Given the description of an element on the screen output the (x, y) to click on. 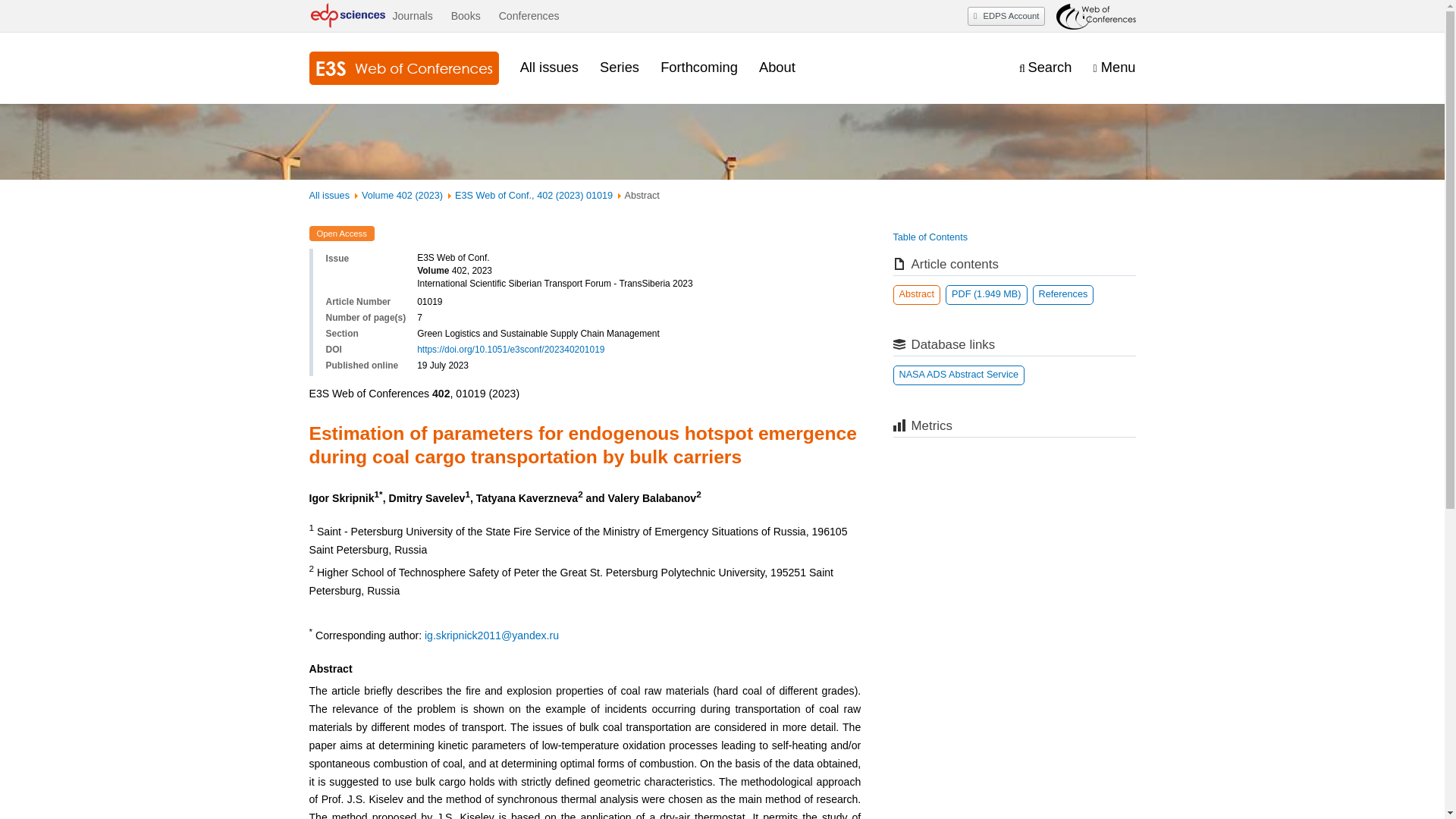
Conferences (529, 16)
References (1063, 294)
All issues (328, 195)
Abstract (916, 294)
Forthcoming (699, 67)
Menu (1114, 67)
Books (465, 16)
Journal homepage (403, 67)
Journals (411, 16)
Series (619, 67)
